Given the description of an element on the screen output the (x, y) to click on. 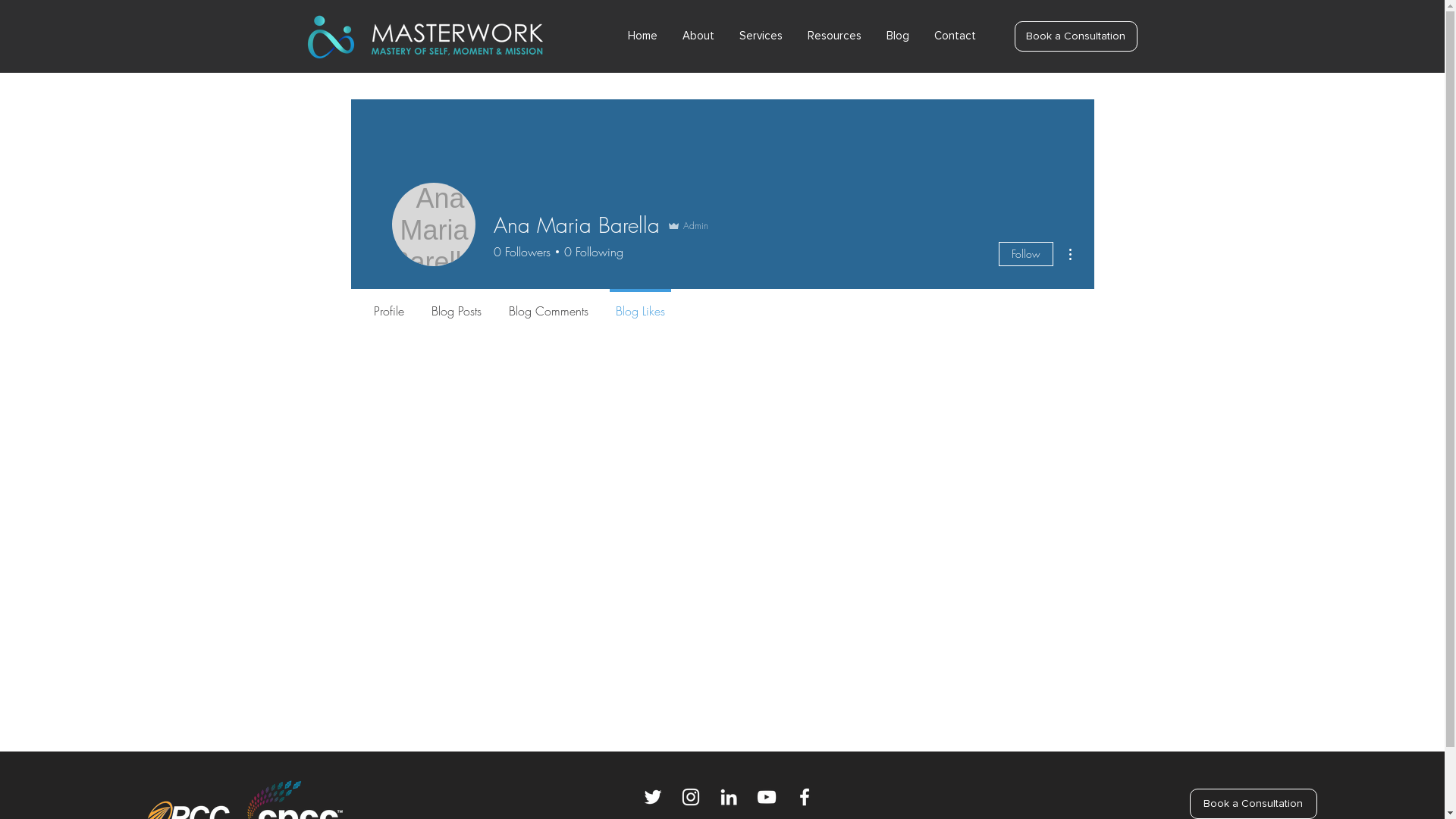
Ana Maria Barella Element type: hover (432, 224)
Resources Element type: text (838, 35)
Blog Element type: text (901, 35)
Book a Consultation Element type: text (1075, 36)
Blog Likes Element type: text (640, 303)
About Element type: text (702, 35)
0
Followers Element type: text (520, 251)
Follow Element type: text (1024, 253)
0
Following Element type: text (590, 251)
Contact Element type: text (959, 35)
Profile Element type: text (388, 303)
Blog Posts Element type: text (455, 303)
Home Element type: text (647, 35)
Blog Comments Element type: text (547, 303)
